Given the description of an element on the screen output the (x, y) to click on. 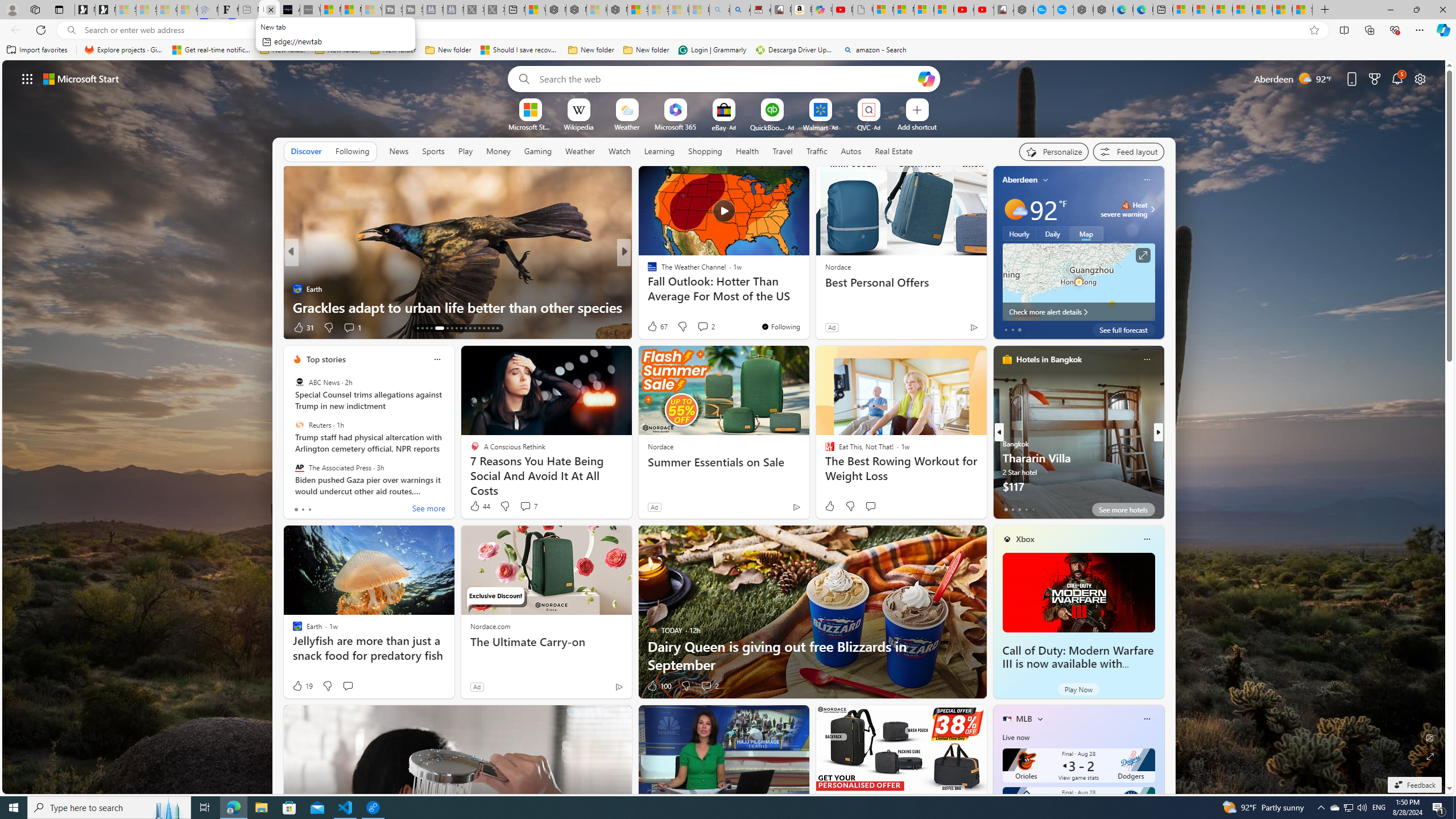
Split screen (1344, 29)
AutomationID: tab-41 (488, 328)
Daily (1052, 233)
View comments 7 Comment (525, 505)
AutomationID: tab-42 (492, 328)
X - Sleeping (494, 9)
Class: control (27, 78)
Gaming (537, 151)
Following (352, 151)
Money (497, 151)
View comments 3 Comment (703, 327)
Fox Weather (647, 270)
Learning (659, 151)
44 Like (479, 505)
